Given the description of an element on the screen output the (x, y) to click on. 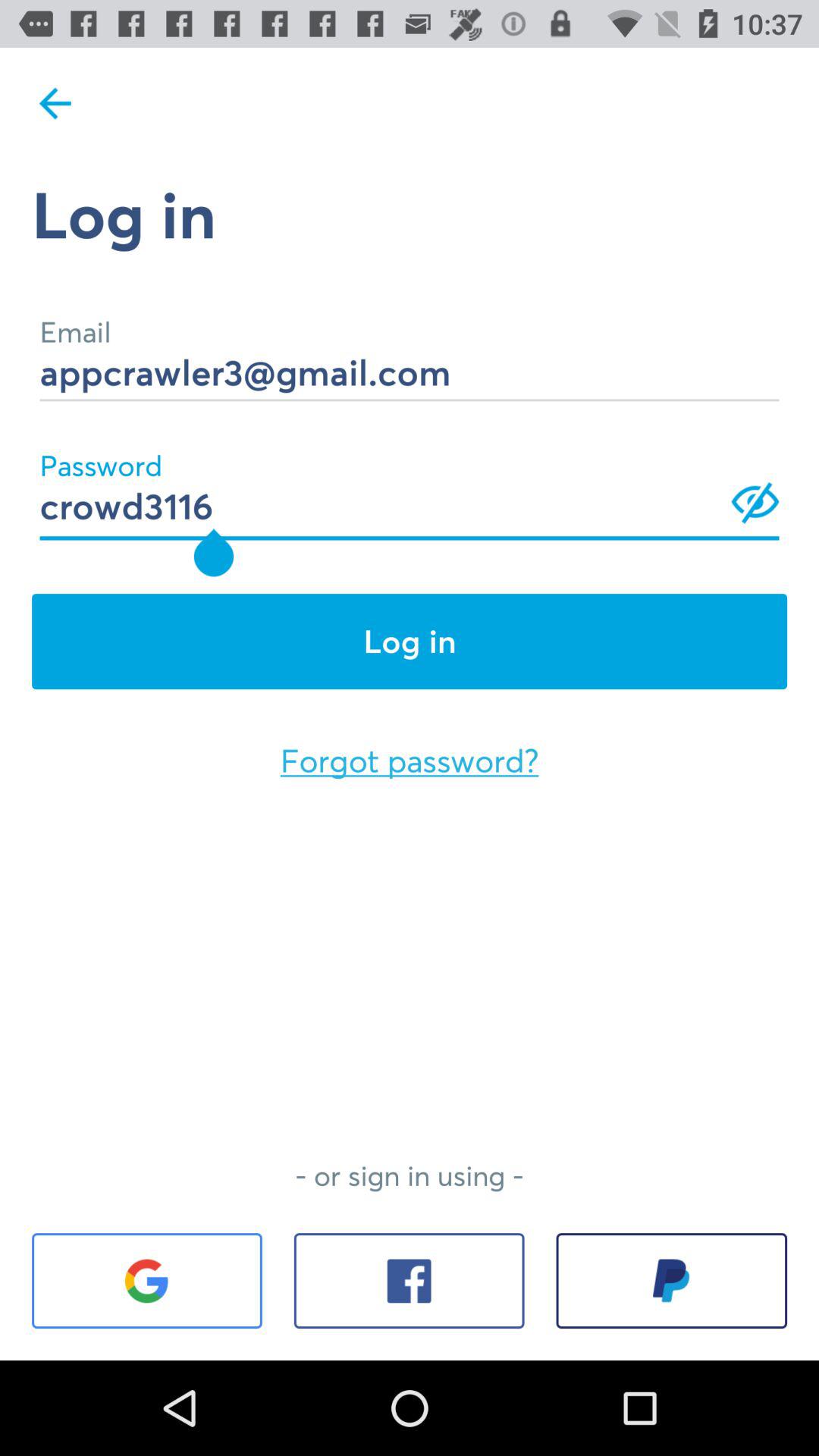
turn off the forgot password? (409, 760)
